Given the description of an element on the screen output the (x, y) to click on. 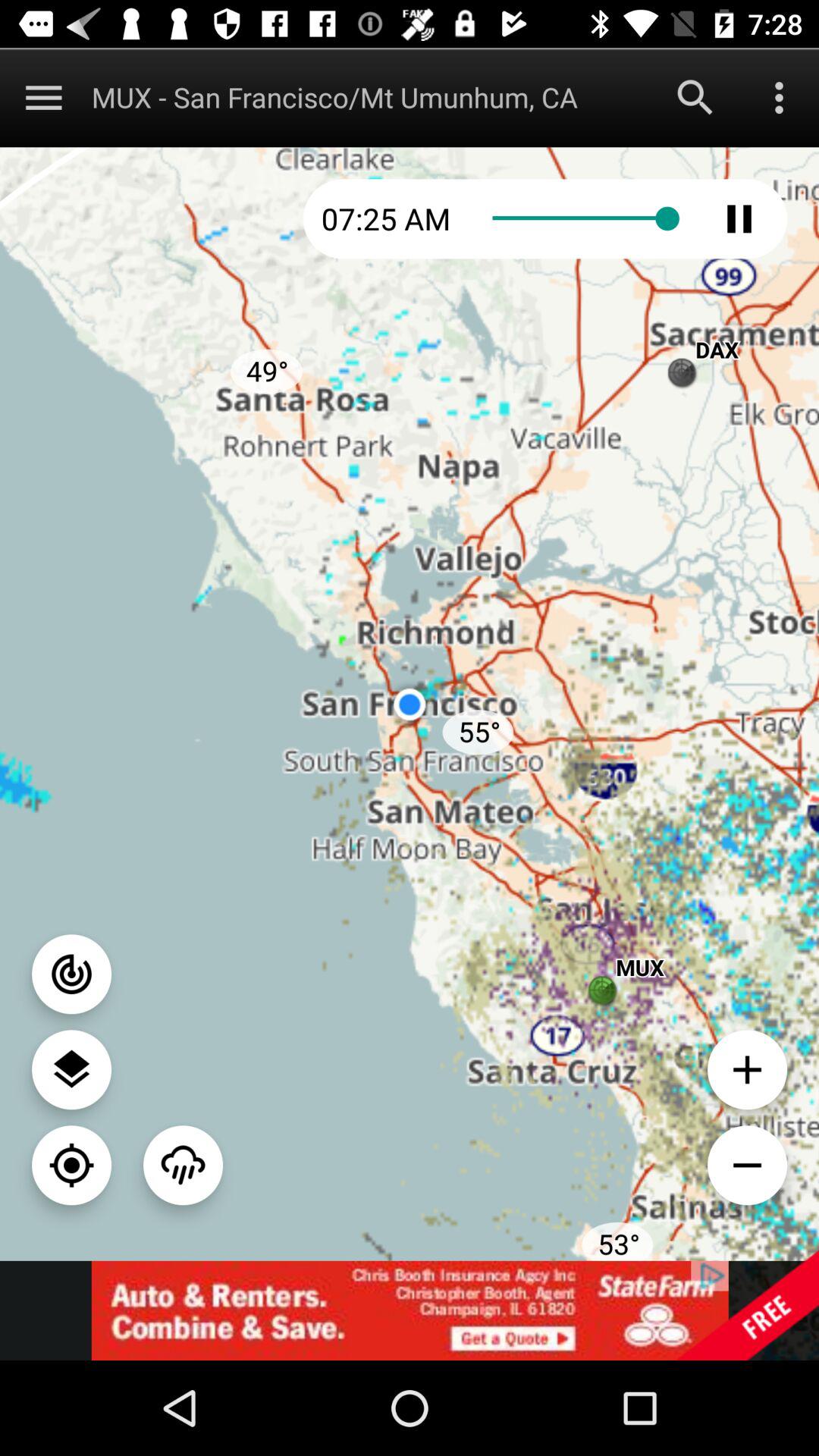
setting button (71, 1069)
